Given the description of an element on the screen output the (x, y) to click on. 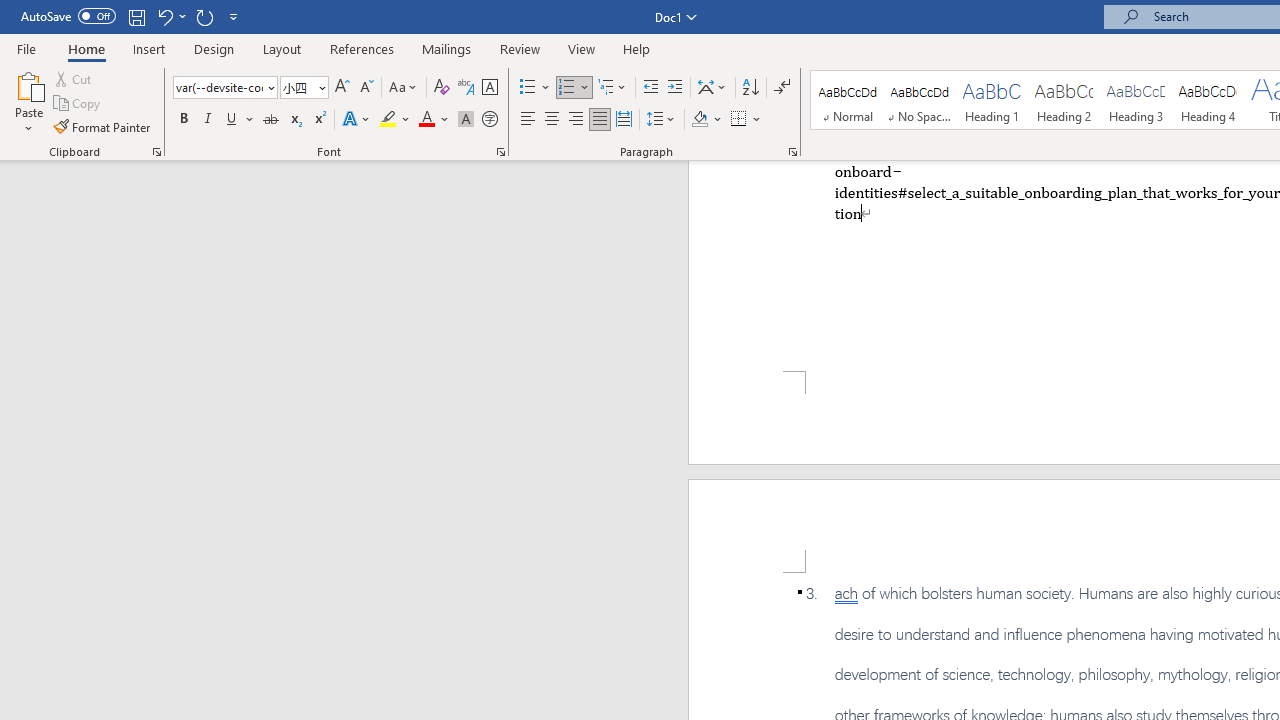
Font Color Automatic (426, 119)
